Given the description of an element on the screen output the (x, y) to click on. 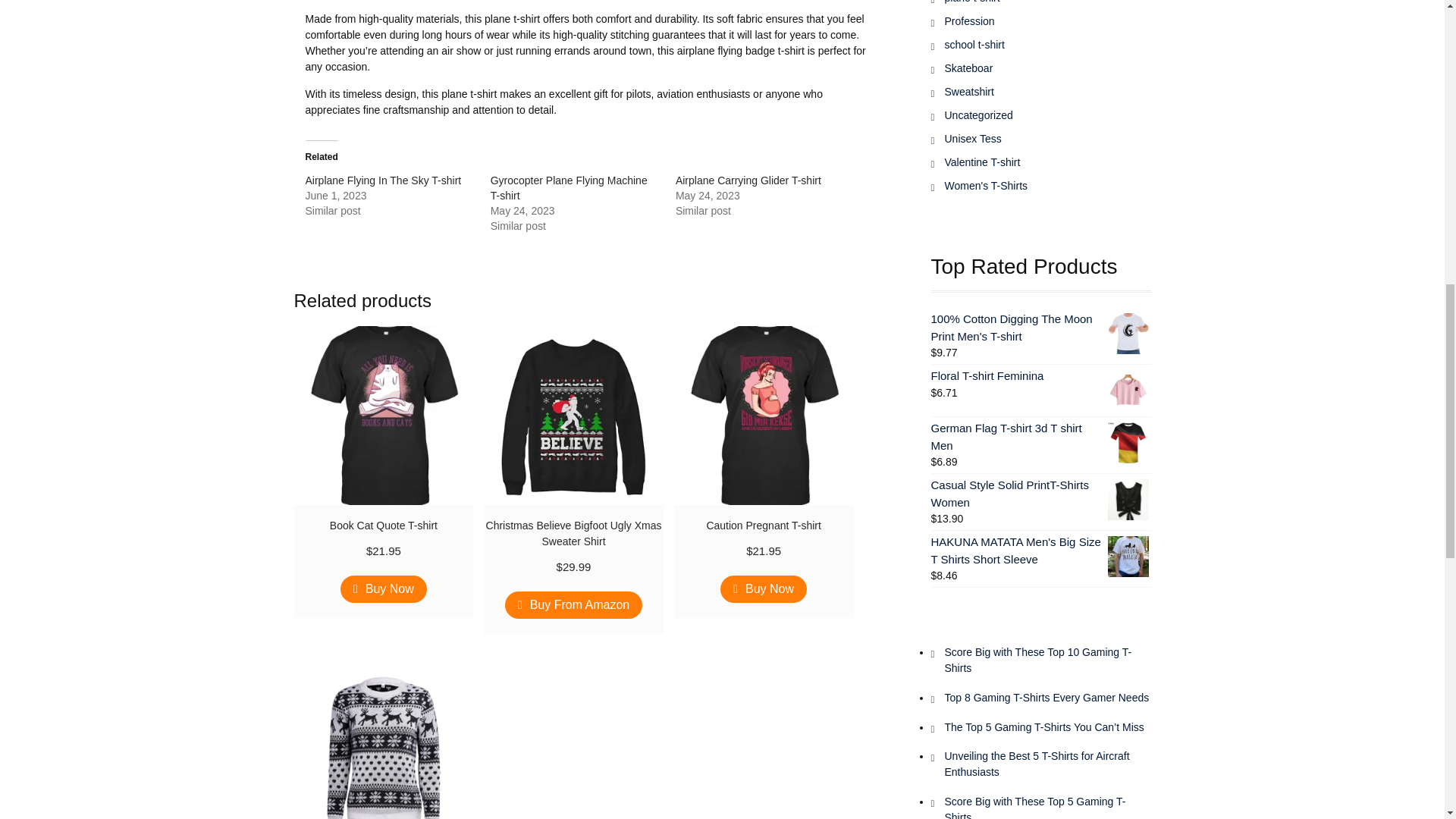
Gyrocopter Plane Flying Machine T-shirt (568, 187)
Airplane Flying In The Sky T-shirt (382, 180)
Airplane Carrying Glider T-shirt (748, 180)
